Given the description of an element on the screen output the (x, y) to click on. 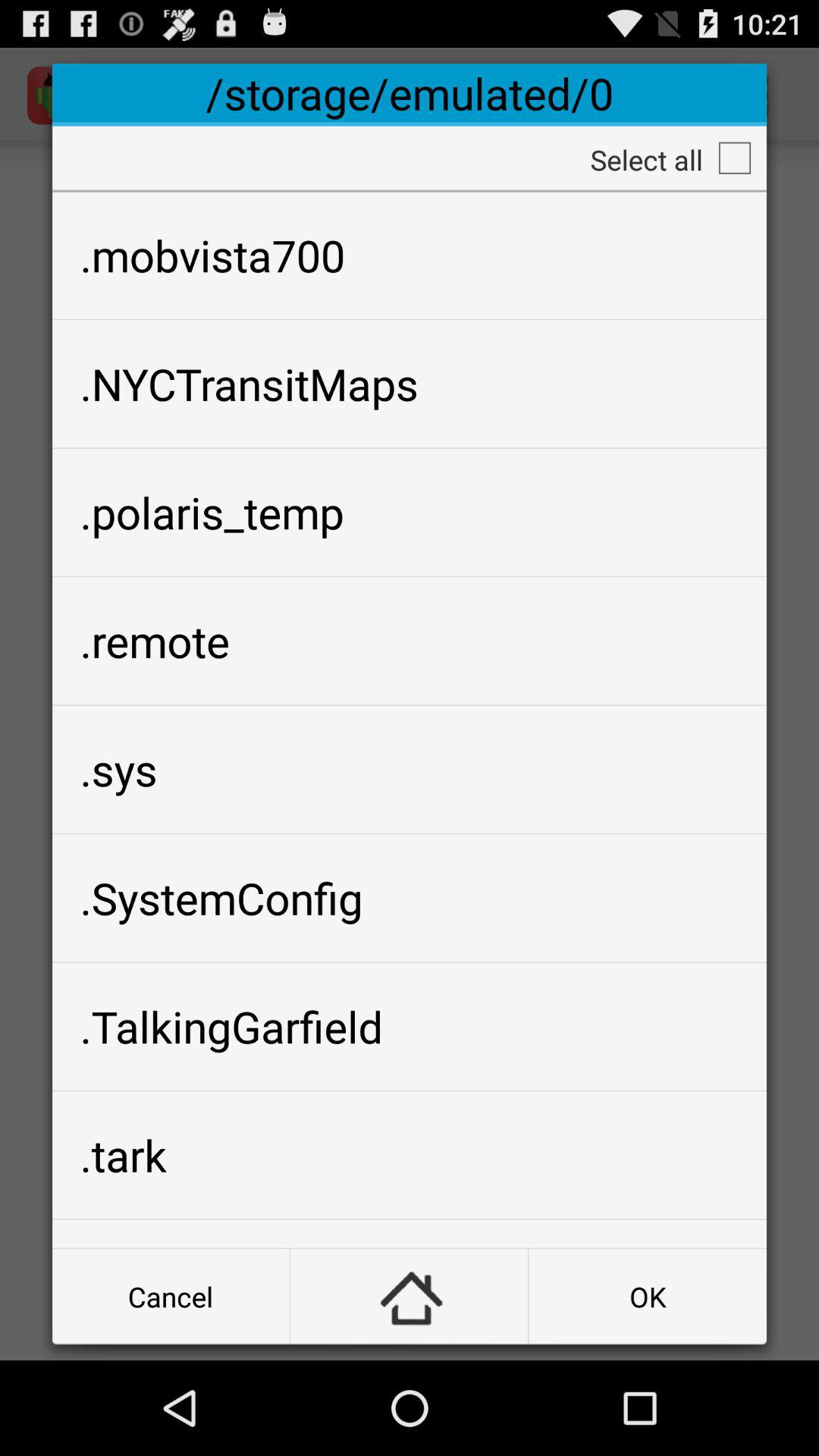
select all (734, 157)
